Given the description of an element on the screen output the (x, y) to click on. 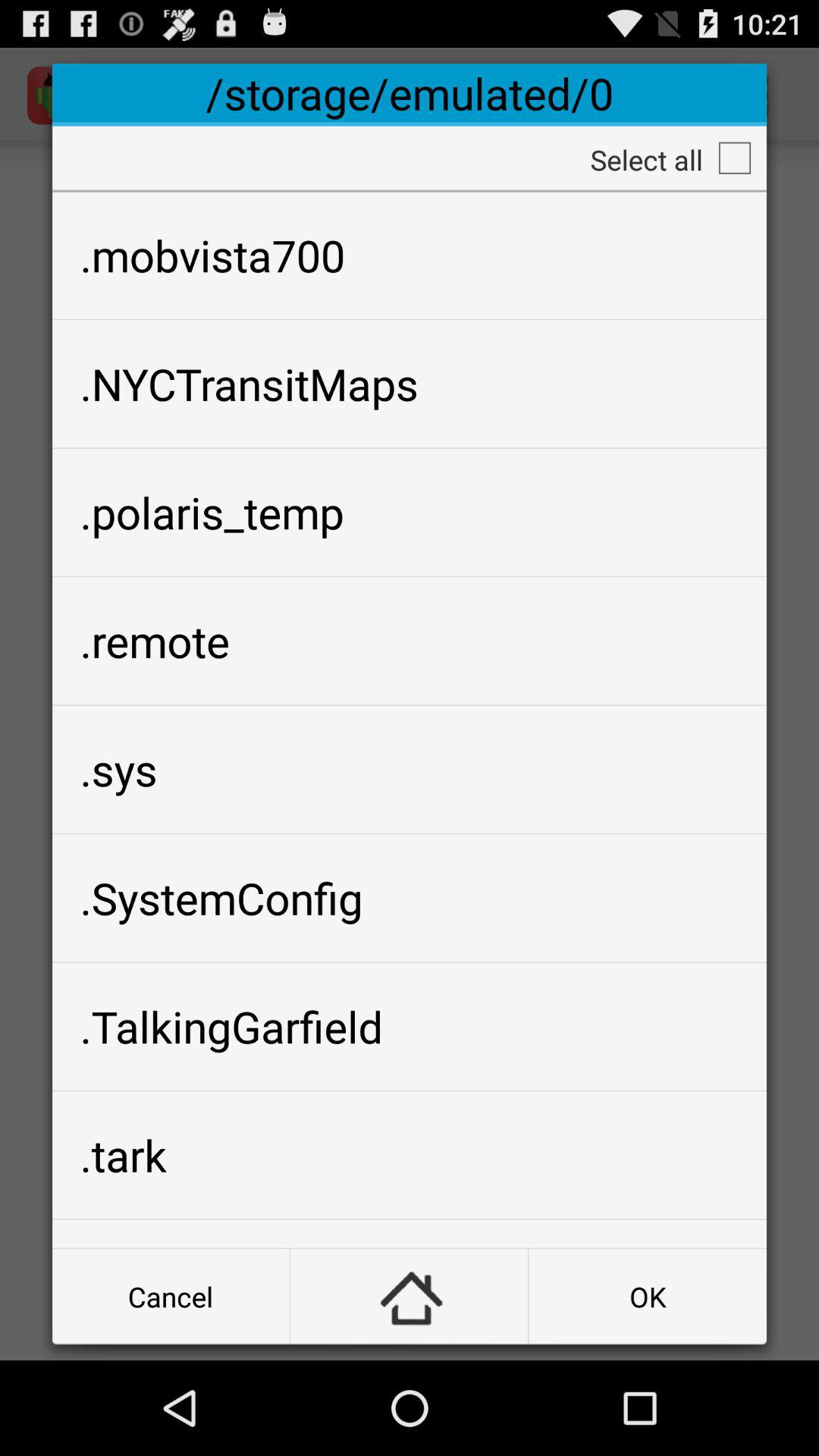
select all (734, 157)
